Given the description of an element on the screen output the (x, y) to click on. 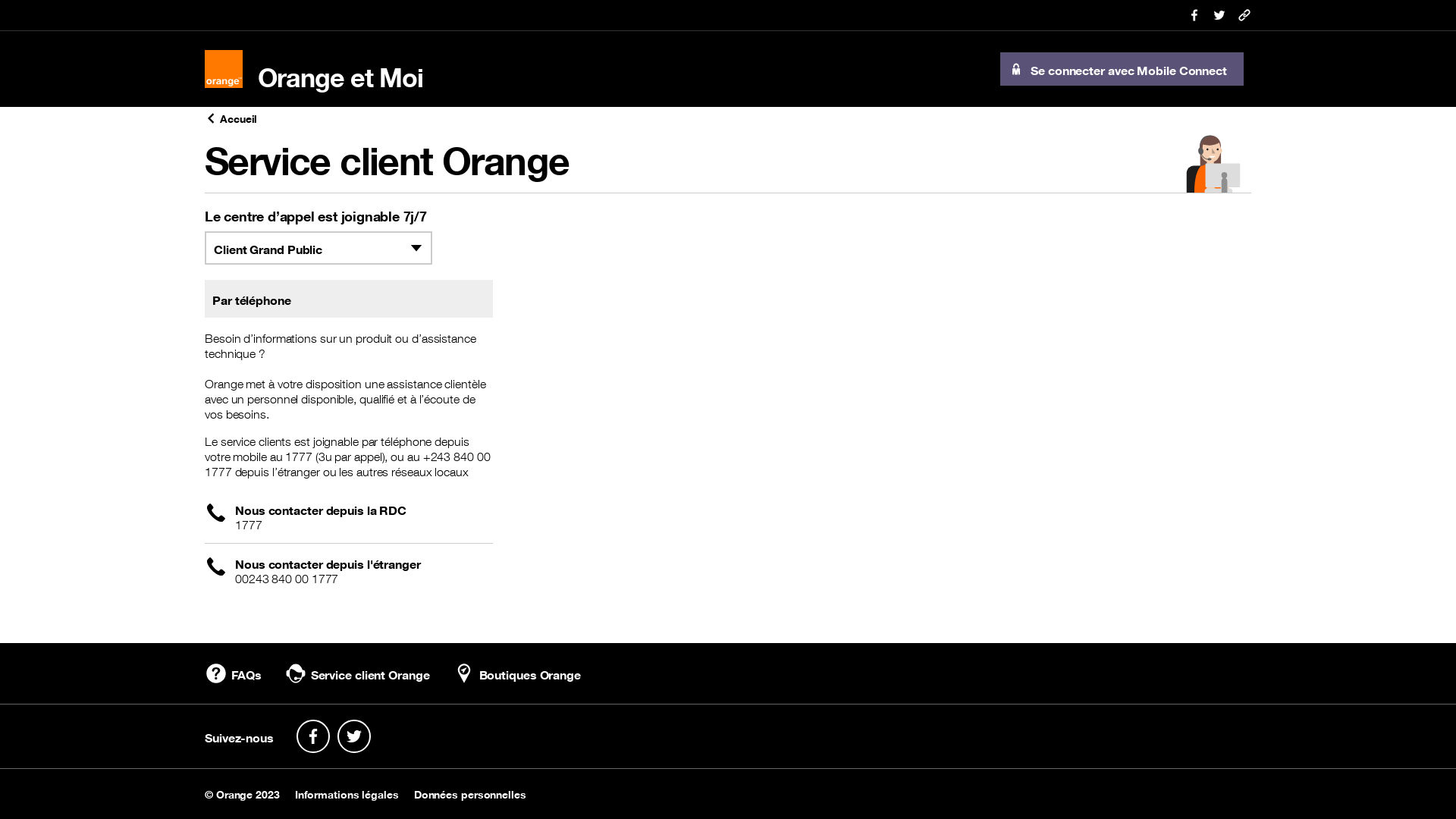
Se connecter avec Mobile Connect Element type: text (1120, 68)
FAQs Element type: text (233, 673)
Service client Orange Element type: text (359, 673)
Accueil Element type: text (727, 118)
Orange et Moi Element type: text (312, 68)
Boutiques Orange Element type: text (522, 673)
